Given the description of an element on the screen output the (x, y) to click on. 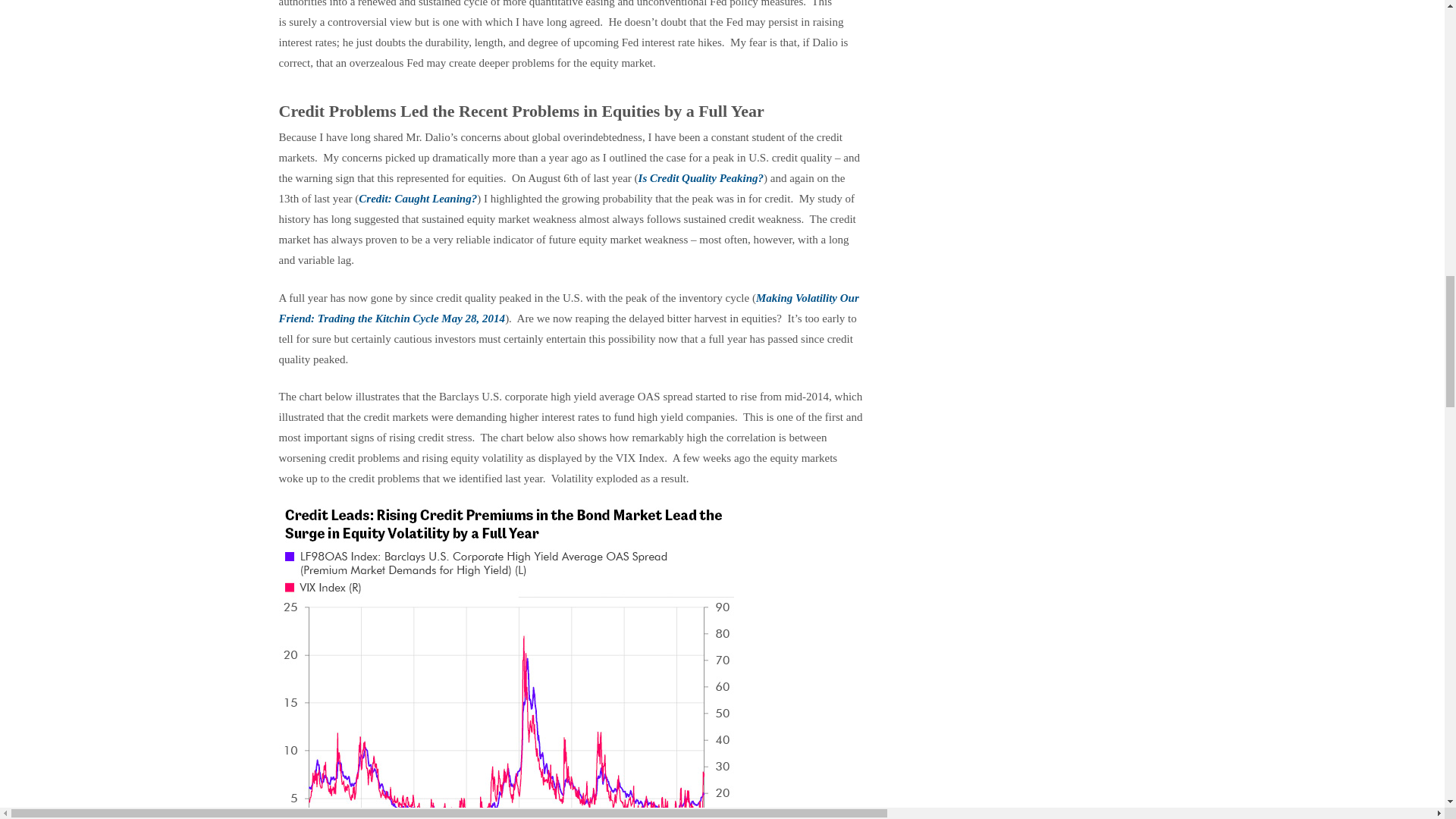
Credit: Caught Leaning? (417, 198)
Is Credit Quality Peaking? (700, 177)
